Given the description of an element on the screen output the (x, y) to click on. 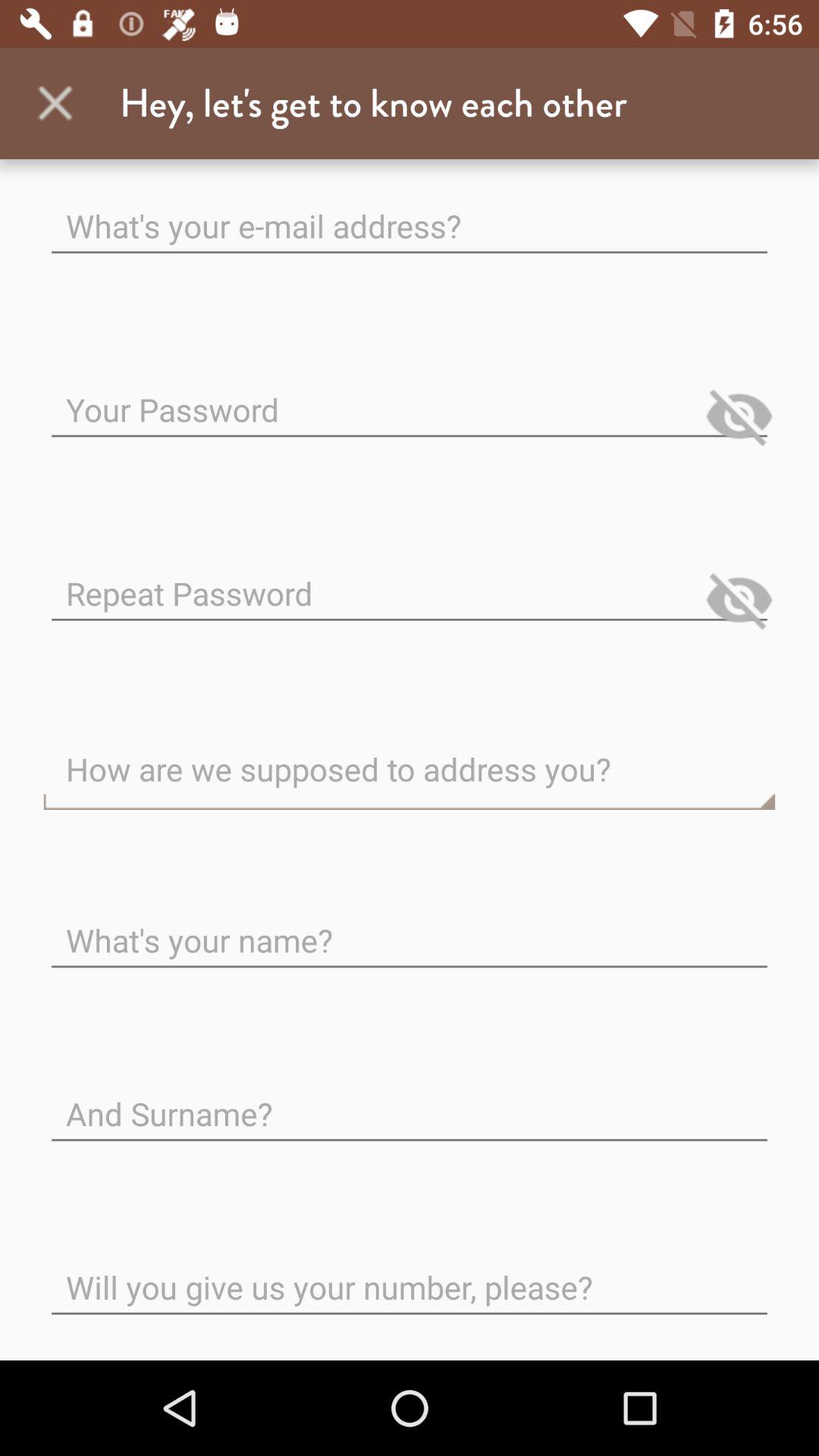
enter password (409, 397)
